Given the description of an element on the screen output the (x, y) to click on. 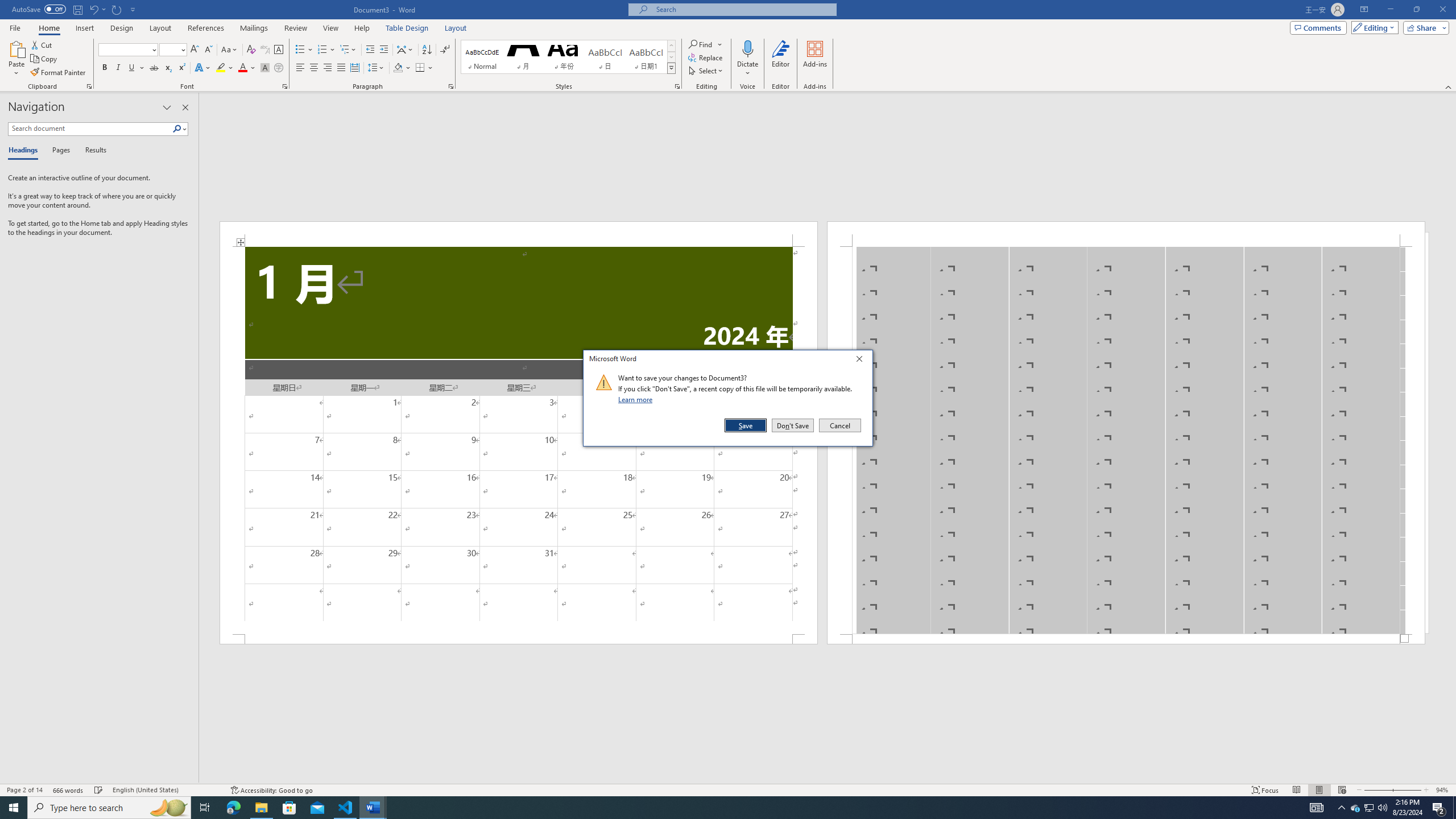
Select (705, 69)
Editor (780, 58)
Text Effects and Typography (202, 67)
Page Number Page 2 of 14 (24, 790)
Row up (670, 45)
Visual Studio Code - 1 running window (345, 807)
Headings (25, 150)
Format Painter (58, 72)
Multilevel List (347, 49)
Italic (118, 67)
Don't Save (792, 425)
